Given the description of an element on the screen output the (x, y) to click on. 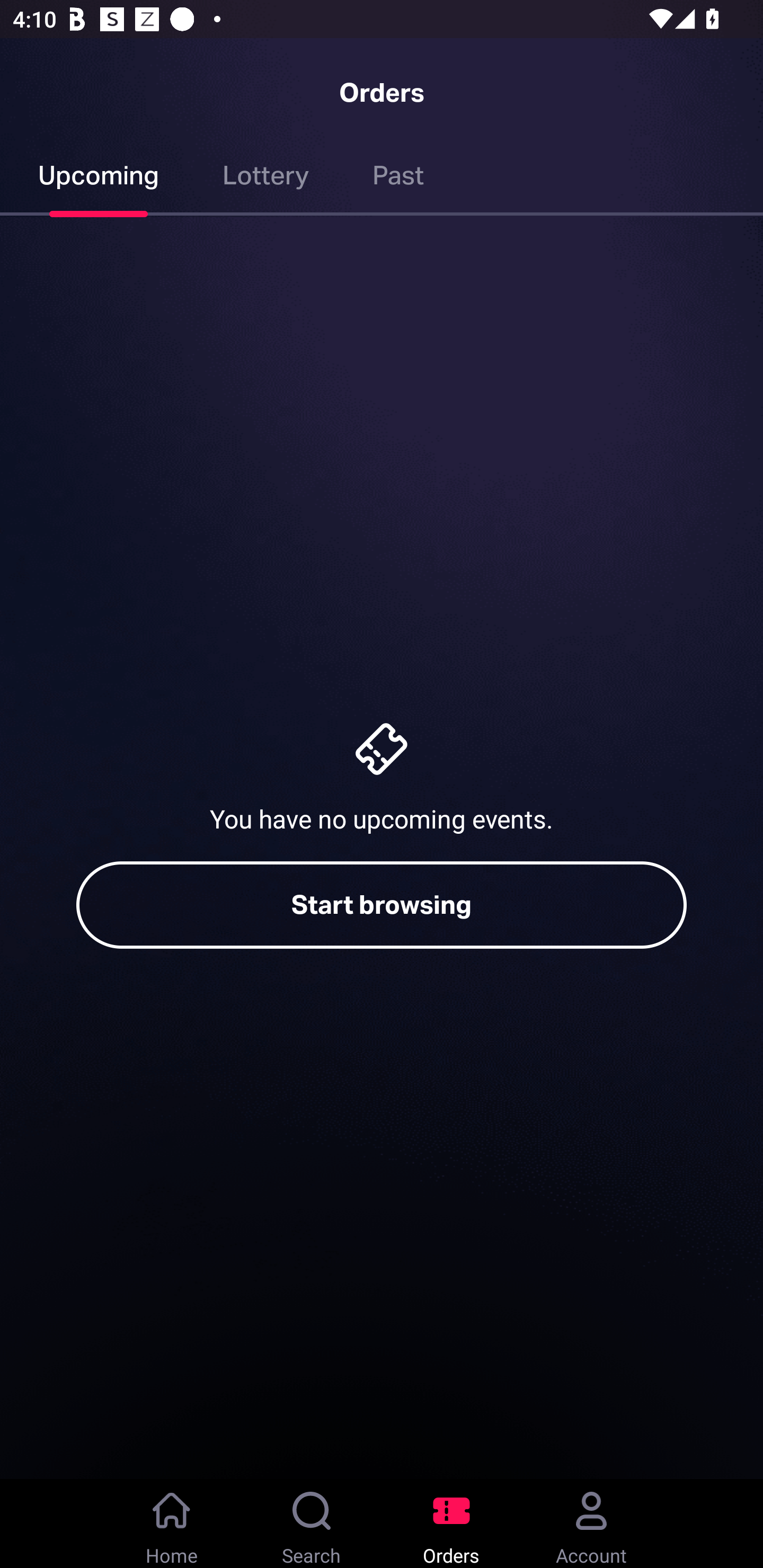
Lottery (265, 179)
Past (398, 179)
Start browsing (381, 904)
Home (171, 1523)
Search (311, 1523)
Account (591, 1523)
